Given the description of an element on the screen output the (x, y) to click on. 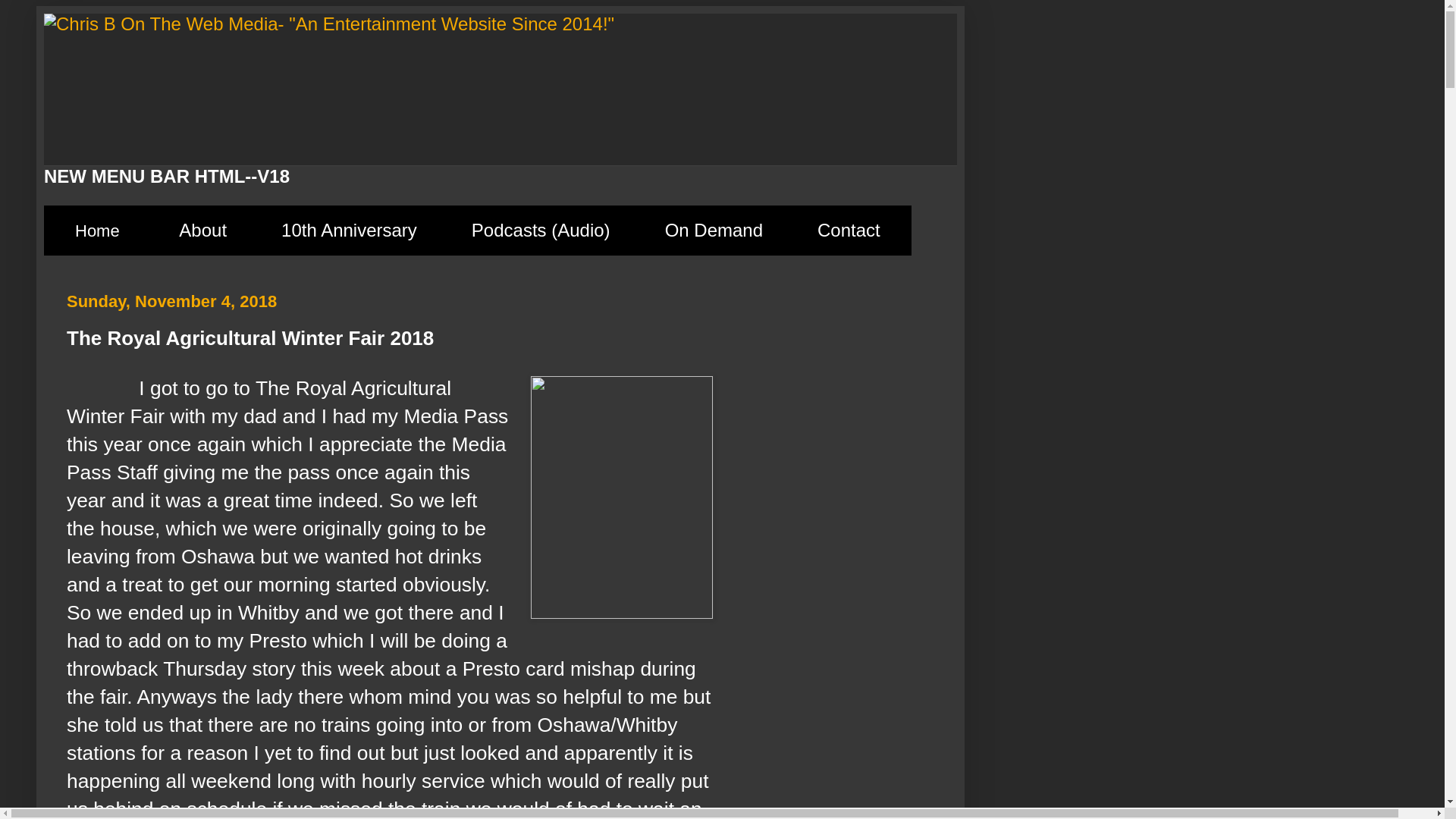
Home (97, 230)
